Given the description of an element on the screen output the (x, y) to click on. 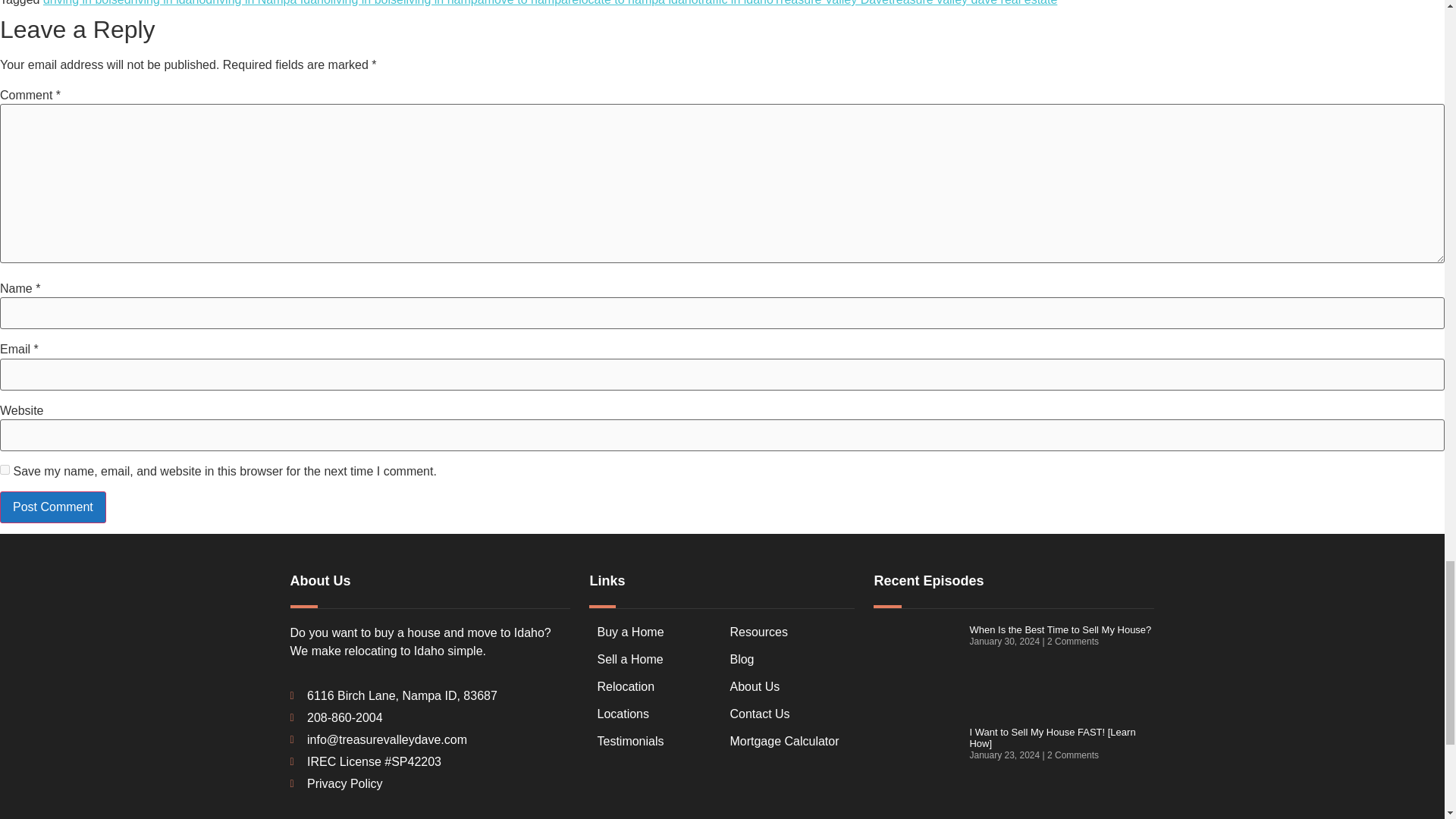
yes (5, 470)
Post Comment (53, 507)
driving in boise (83, 2)
